Given the description of an element on the screen output the (x, y) to click on. 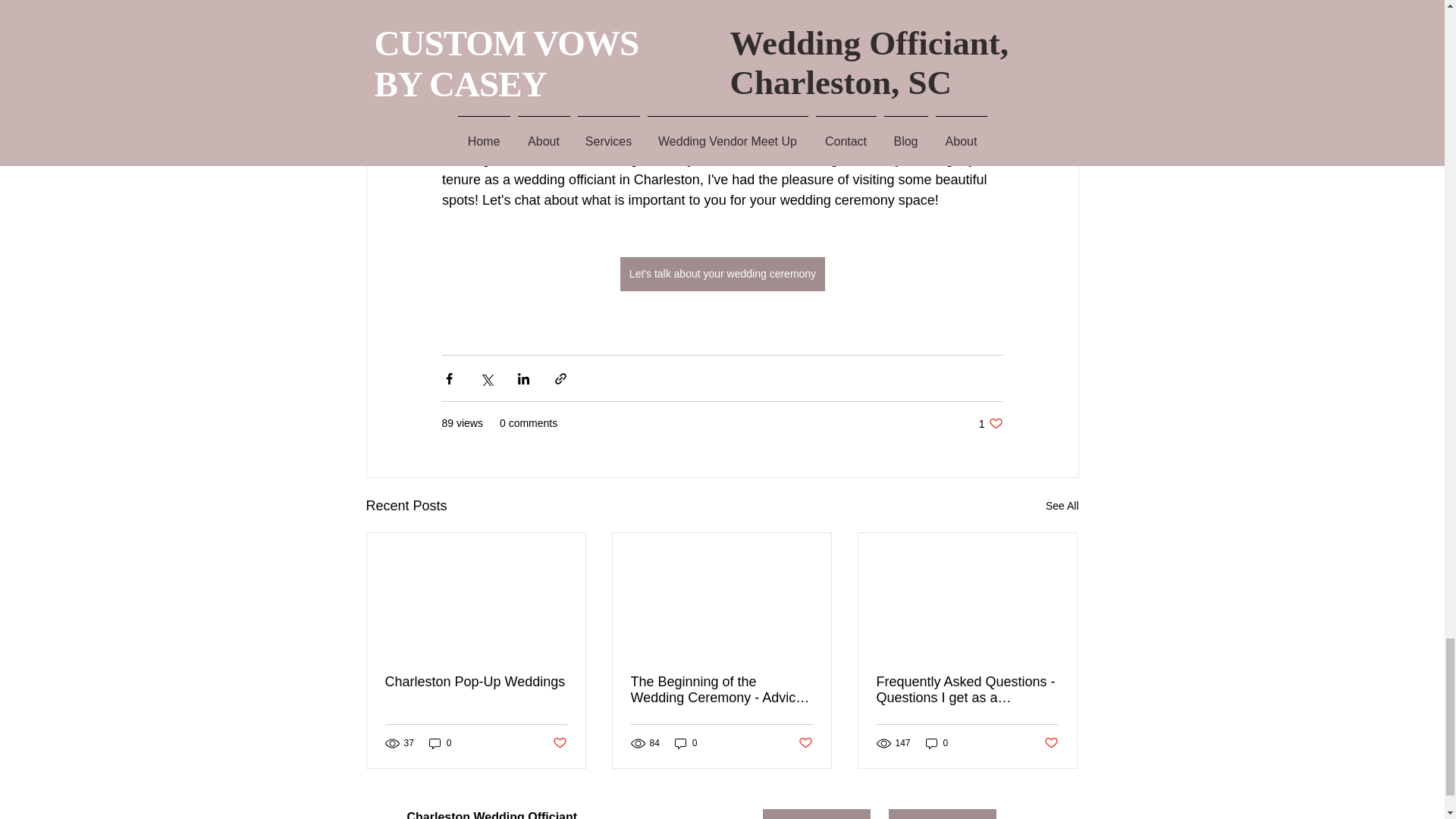
Let's talk about your wedding ceremony (722, 274)
Wedding Wire (816, 814)
0 (937, 743)
Post not marked as liked (558, 743)
0 (440, 743)
Chapel (572, 118)
Post not marked as liked (1050, 743)
See All (1061, 505)
0 (685, 743)
